Given the description of an element on the screen output the (x, y) to click on. 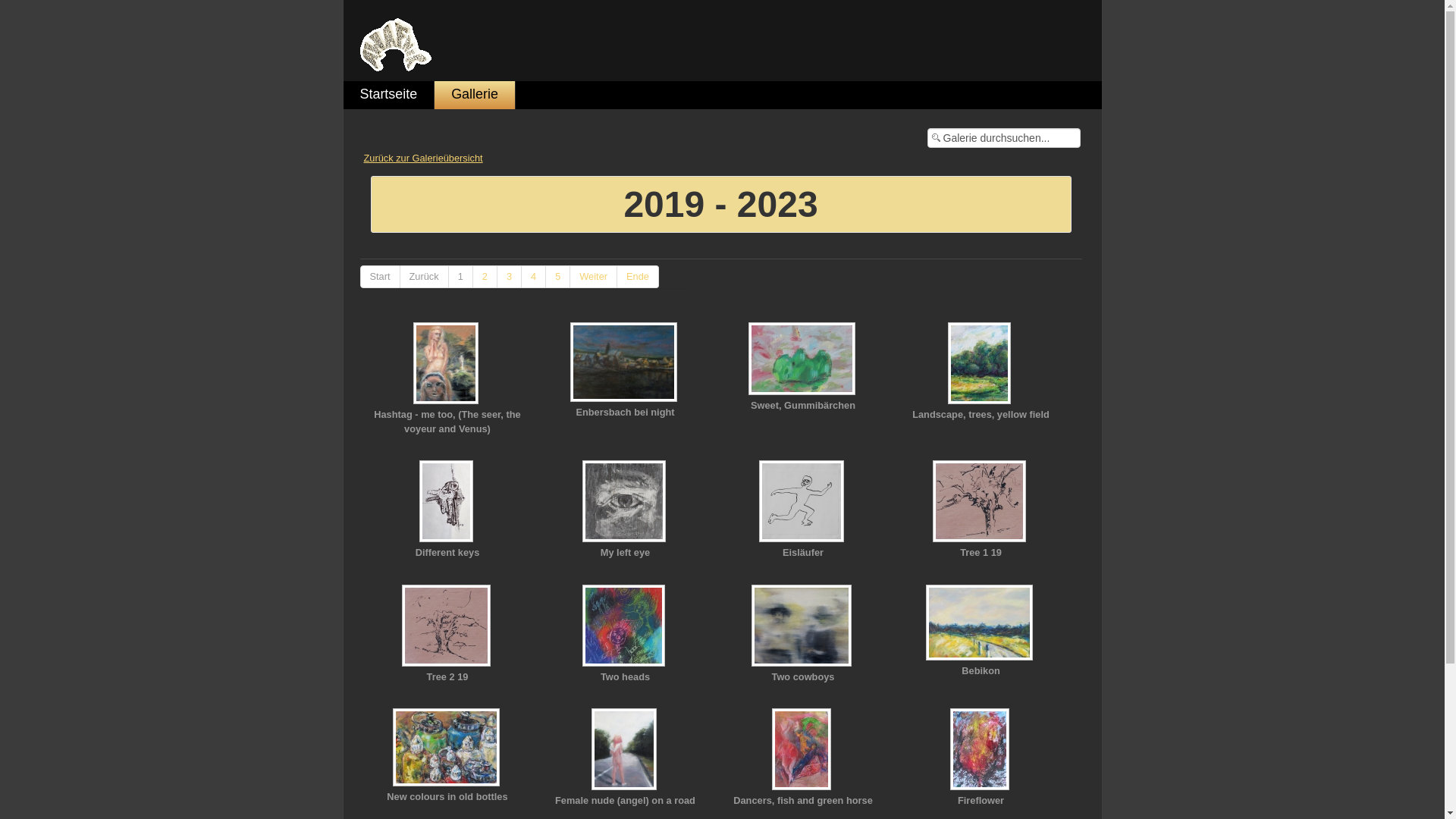
Two cowboys Oil on canvas, 24x18 cm, 2019 Element type: hover (803, 626)
Startseite Element type: text (387, 95)
New colours in old bottles <p>ixed media on paper, 2019</p> Element type: hover (447, 748)
Bebikon <p>Oil on paper, wood, 55x47 cm, 2019</p> Element type: hover (980, 623)
Two heads oilstick on paper, 17x17 cm, 2019 Element type: hover (625, 626)
2 Element type: text (485, 276)
Fireflower mixed media on paper, 20x30 cm, 2019 Element type: hover (980, 750)
My left eye Charcoal on paper, 12x12 cm, 2019 Element type: hover (625, 502)
Tree 1 19 Pen on paper, 18x18 cm, 2019 Element type: hover (980, 502)
3 Element type: text (509, 276)
Ende Element type: text (637, 276)
Different keys Pen on paper, 12x16 cm, 2019 Element type: hover (447, 502)
Tree 2 19 Pen on paper, 18x18 cm, 2019 Element type: hover (447, 626)
5 Element type: text (558, 276)
Weiter Element type: text (593, 276)
Enbersbach bei night oil on canvas, 40x30cm, 2018 Element type: hover (625, 363)
4 Element type: text (533, 276)
Galerie durchsuchen... Element type: hover (1002, 137)
Gallerie Element type: text (474, 95)
